Given the description of an element on the screen output the (x, y) to click on. 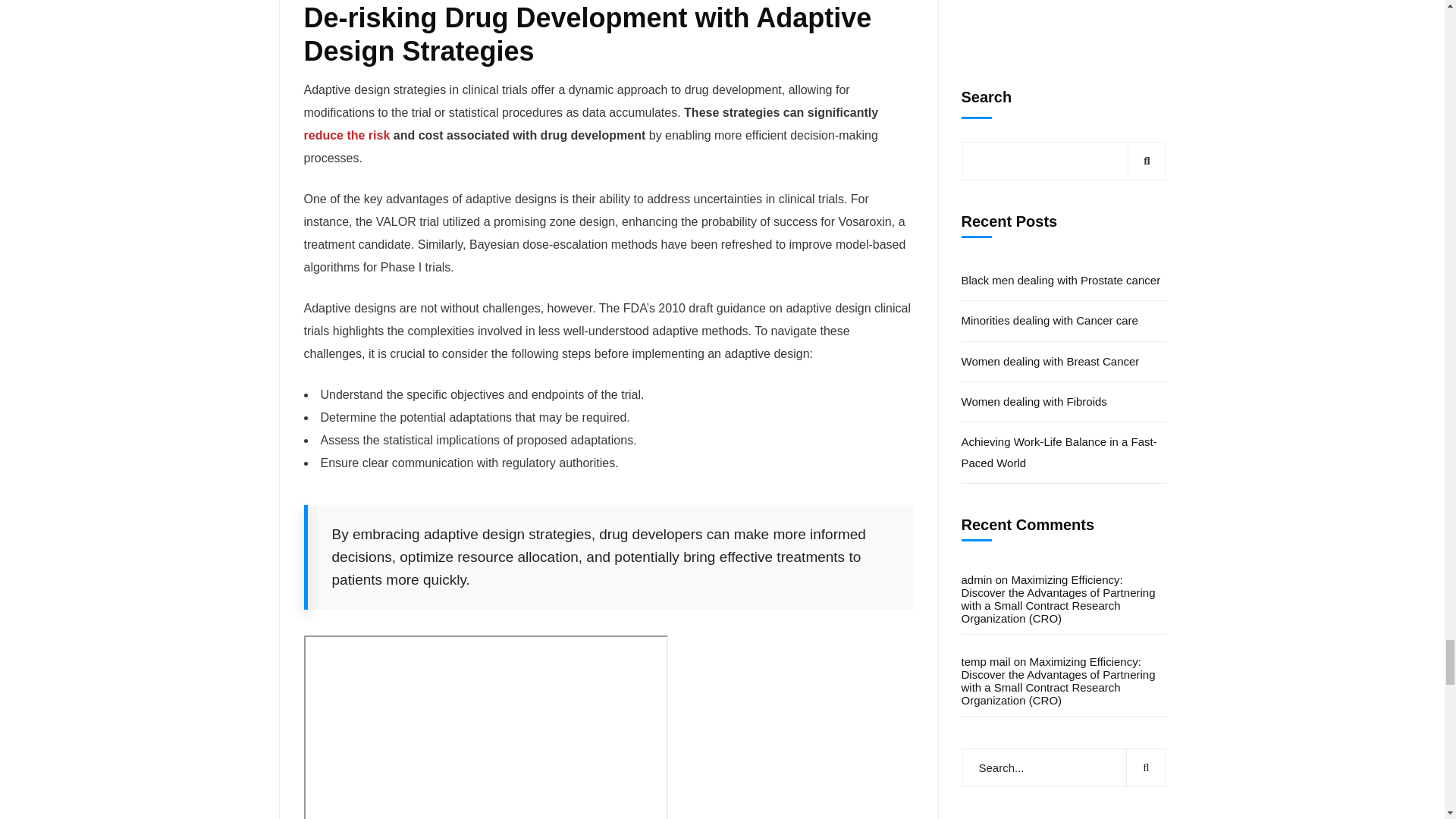
reduce the risk (346, 134)
